Given the description of an element on the screen output the (x, y) to click on. 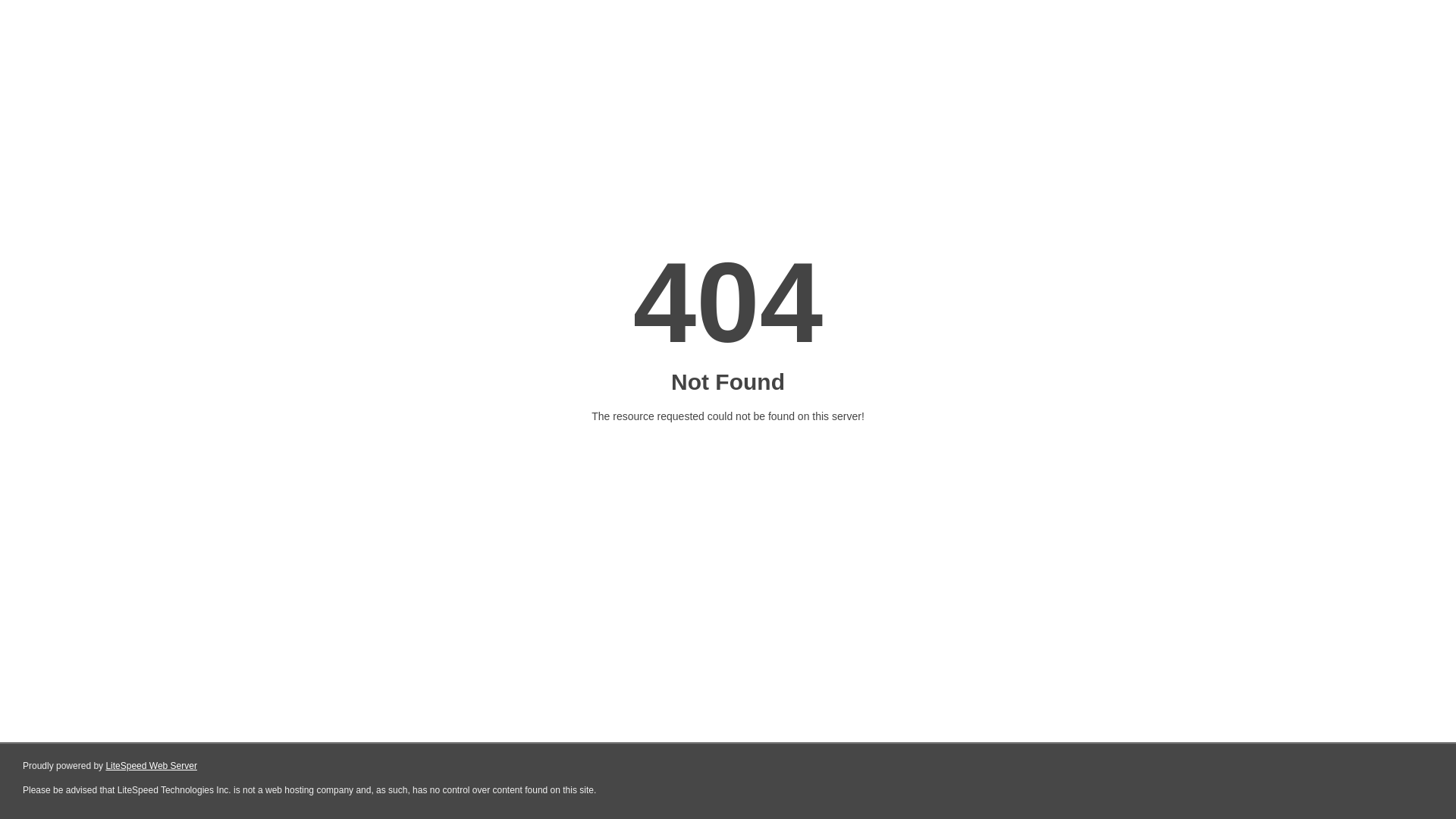
LiteSpeed Web Server Element type: text (151, 765)
